Given the description of an element on the screen output the (x, y) to click on. 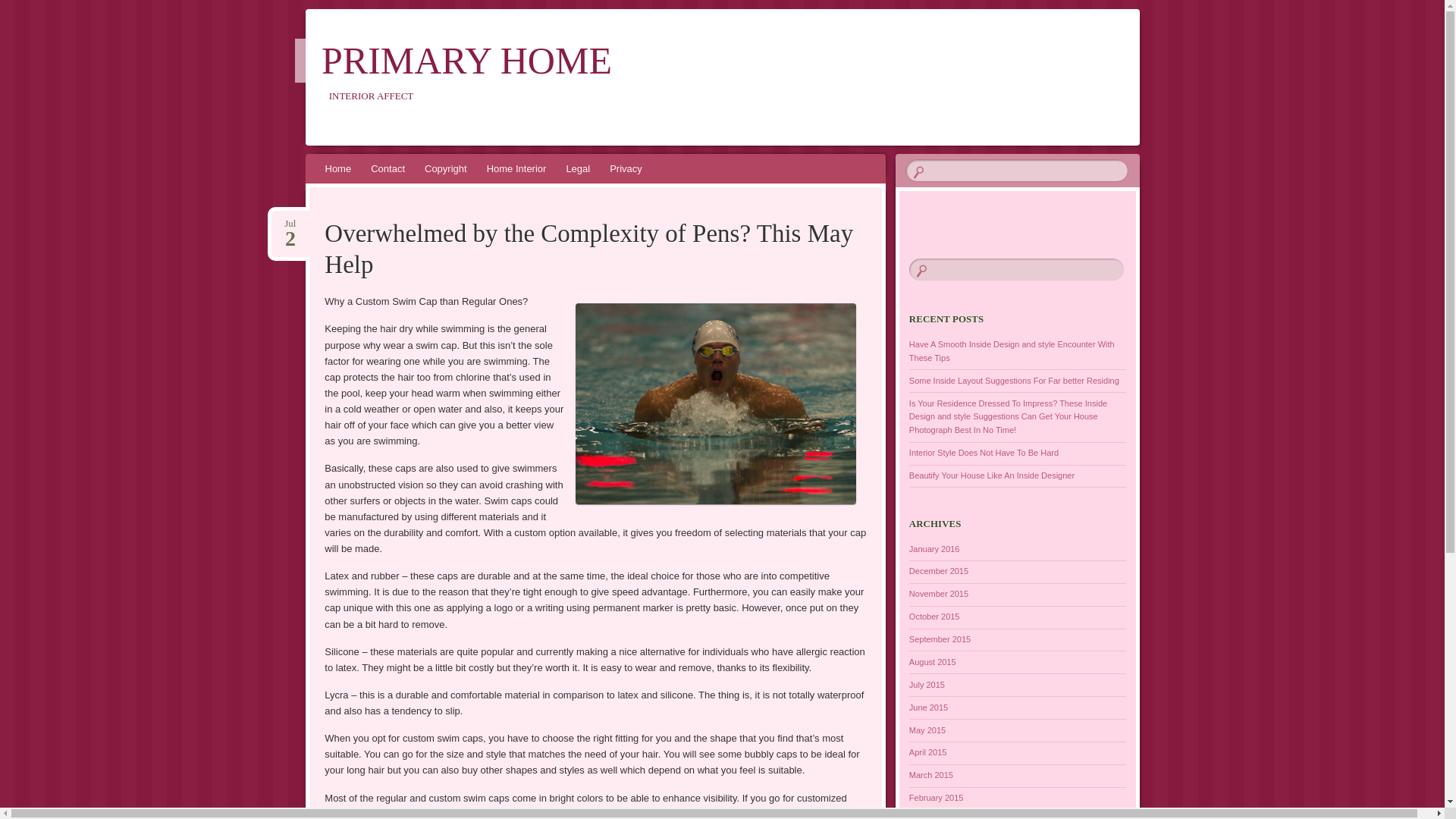
May 2015 (926, 729)
Legal (577, 168)
October 2015 (933, 615)
Copyright (445, 168)
August 2015 (932, 661)
February 2015 (935, 797)
Interior Style Does Not Have To Be Hard (983, 452)
June 2015 (927, 706)
